Given the description of an element on the screen output the (x, y) to click on. 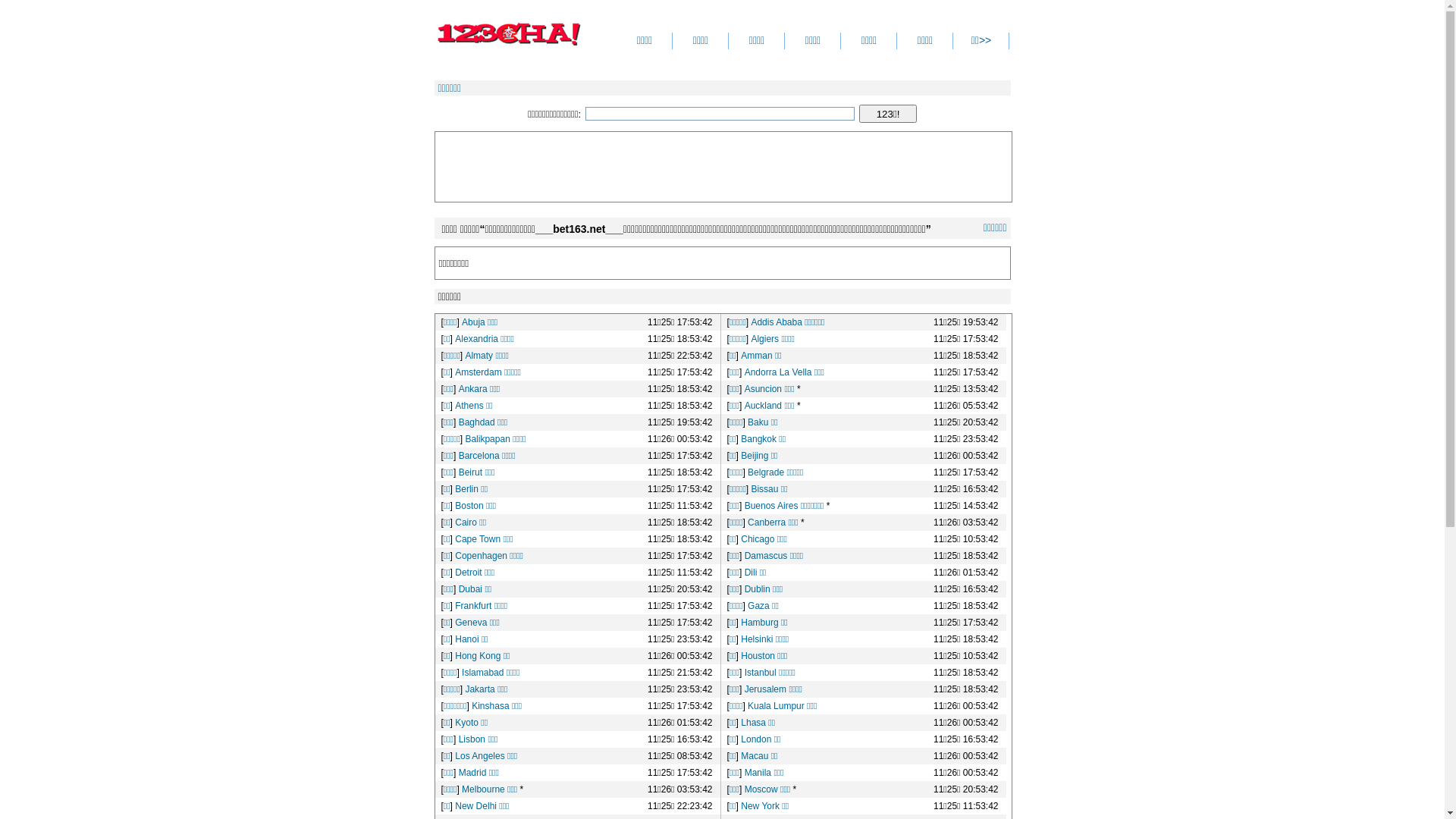
Alexandria Element type: text (476, 338)
Manila Element type: text (757, 772)
Damascus Element type: text (765, 555)
Jerusalem Element type: text (765, 689)
Copenhagen Element type: text (481, 555)
Dubai Element type: text (470, 588)
Cape Town Element type: text (477, 538)
Los Angeles Element type: text (479, 755)
Kuala Lumpur Element type: text (775, 705)
Baku Element type: text (757, 422)
London Element type: text (755, 739)
Addis Ababa Element type: text (775, 321)
Madrid Element type: text (472, 772)
Helsinki Element type: text (756, 638)
Beijing Element type: text (754, 455)
Kinshasa Element type: text (489, 705)
Istanbul Element type: text (760, 672)
Melbourne Element type: text (483, 789)
Bissau Element type: text (764, 488)
Cairo Element type: text (465, 522)
Islamabad Element type: text (482, 672)
Kyoto Element type: text (466, 722)
Chicago Element type: text (757, 538)
Frankfurt Element type: text (473, 605)
Andorra La Vella Element type: text (778, 372)
Hanoi Element type: text (466, 638)
Balikpapan Element type: text (486, 438)
Macau Element type: text (754, 755)
Almaty Element type: text (478, 355)
Dili Element type: text (750, 572)
Hamburg Element type: text (759, 622)
Boston Element type: text (469, 505)
New York Element type: text (759, 805)
Canberra Element type: text (766, 522)
Abuja Element type: text (473, 321)
Amman Element type: text (755, 355)
Auckland Element type: text (762, 405)
Baghdad Element type: text (476, 422)
Ankara Element type: text (472, 388)
Buenos Aires Element type: text (771, 505)
Athens Element type: text (469, 405)
Detroit Element type: text (468, 572)
Geneva Element type: text (470, 622)
Belgrade Element type: text (765, 472)
Bangkok Element type: text (758, 438)
Asuncion Element type: text (762, 388)
Berlin Element type: text (466, 488)
Jakarta Element type: text (479, 689)
Beirut Element type: text (470, 472)
Hong Kong Element type: text (477, 655)
Lhasa Element type: text (752, 722)
Lisbon Element type: text (471, 739)
Gaza Element type: text (758, 605)
Algiers Element type: text (764, 338)
Houston Element type: text (757, 655)
Moscow Element type: text (761, 789)
Barcelona Element type: text (478, 455)
New Delhi Element type: text (475, 805)
Amsterdam Element type: text (478, 372)
Dublin Element type: text (757, 588)
